Given the description of an element on the screen output the (x, y) to click on. 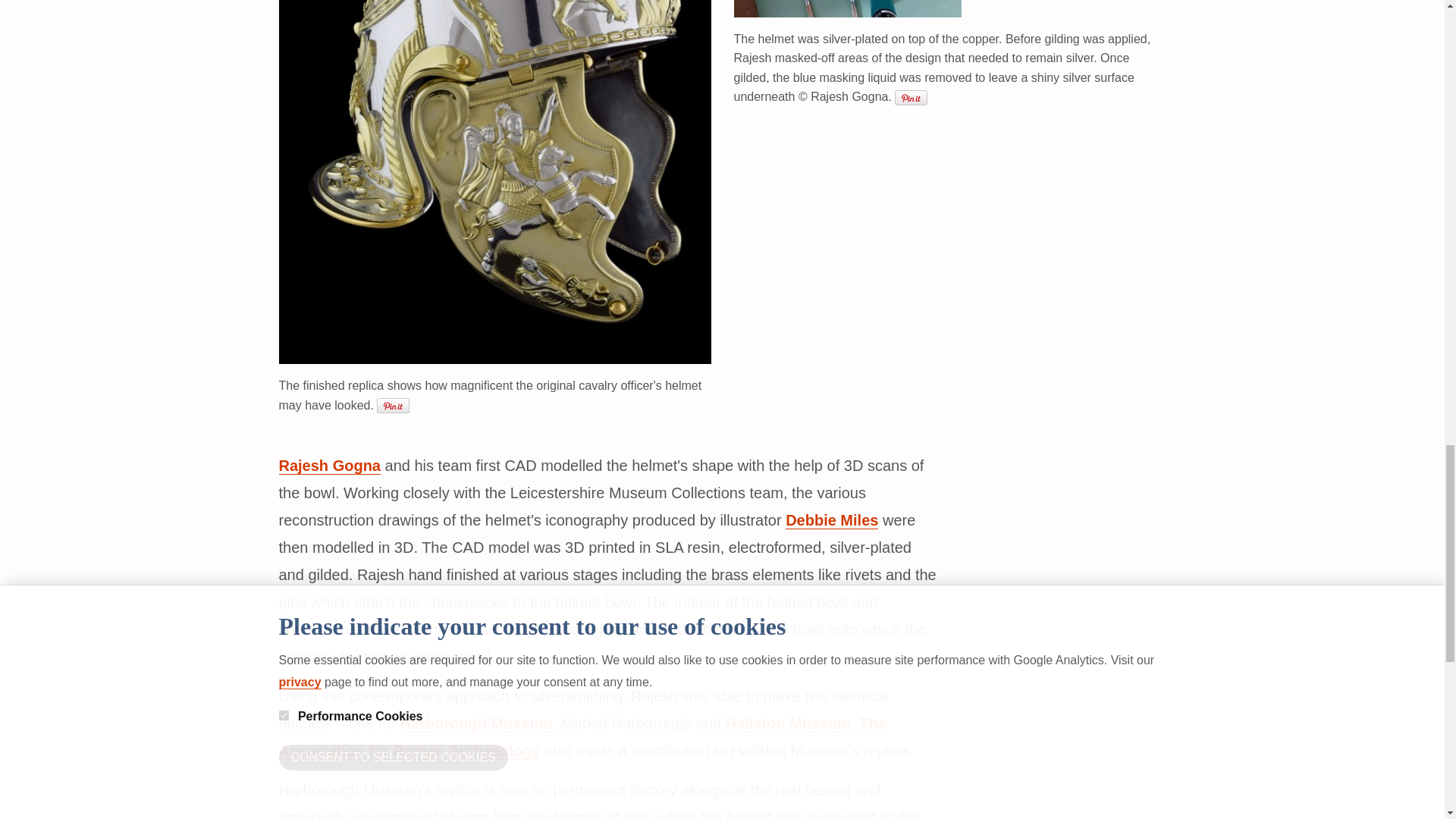
The Association for Roman Archaeology (582, 737)
Debbie Miles (831, 520)
Hallaton Museum (788, 723)
Harborough Museum (476, 723)
Rajesh Gogna (329, 466)
